Given the description of an element on the screen output the (x, y) to click on. 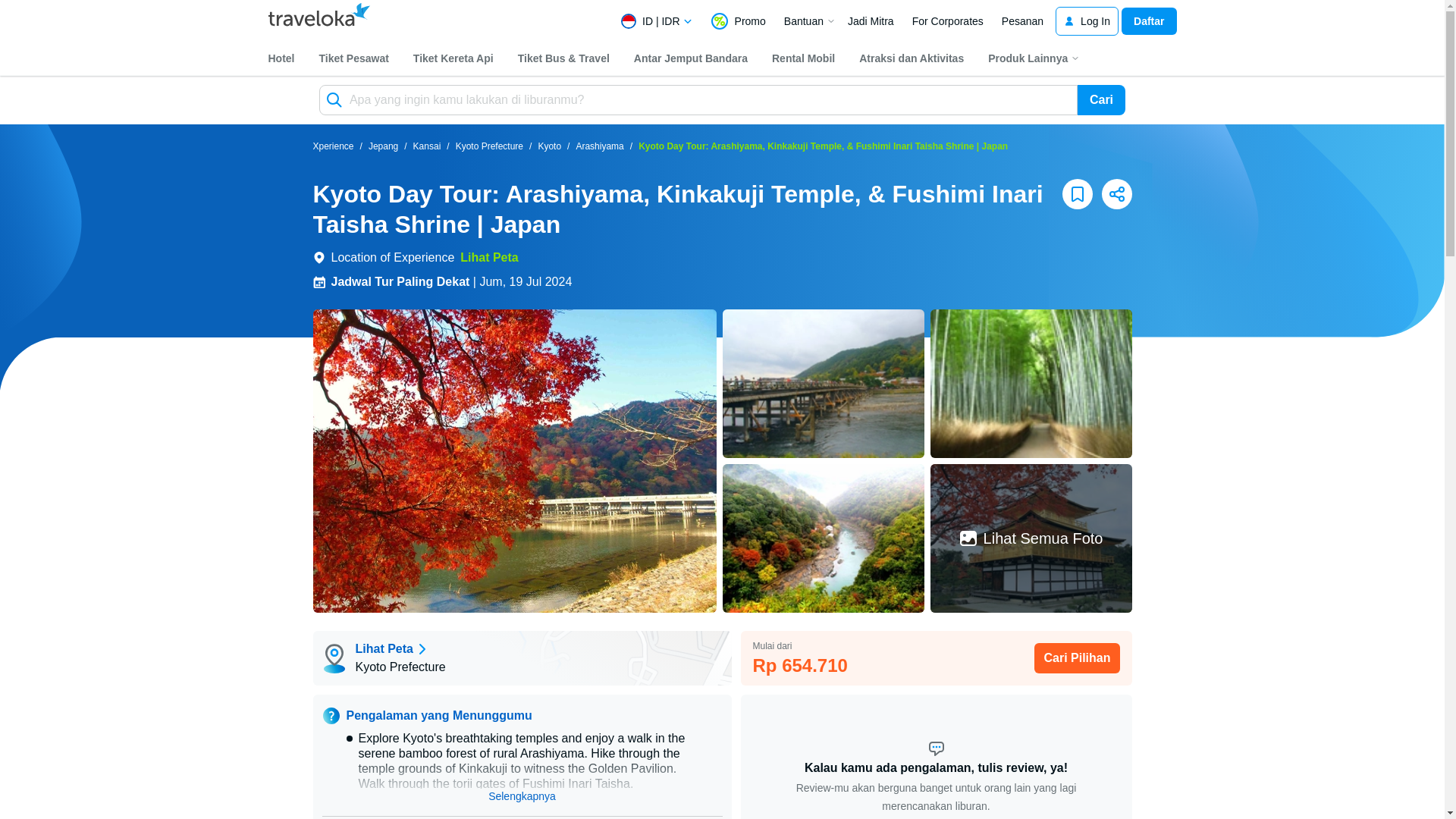
Jadi Mitra (870, 20)
Tiket Pesawat (353, 58)
Arashiyama (599, 147)
Rental Mobil (803, 58)
Hotel (281, 58)
Xperience (333, 147)
For Corporates (948, 20)
Atraksi dan Aktivitas (911, 58)
Jepang (382, 147)
Pesanan (1022, 20)
Kyoto (548, 147)
Antar Jemput Bandara (690, 58)
Tiket Kereta Api (453, 58)
Kyoto Prefecture (488, 147)
Kansai (427, 147)
